Given the description of an element on the screen output the (x, y) to click on. 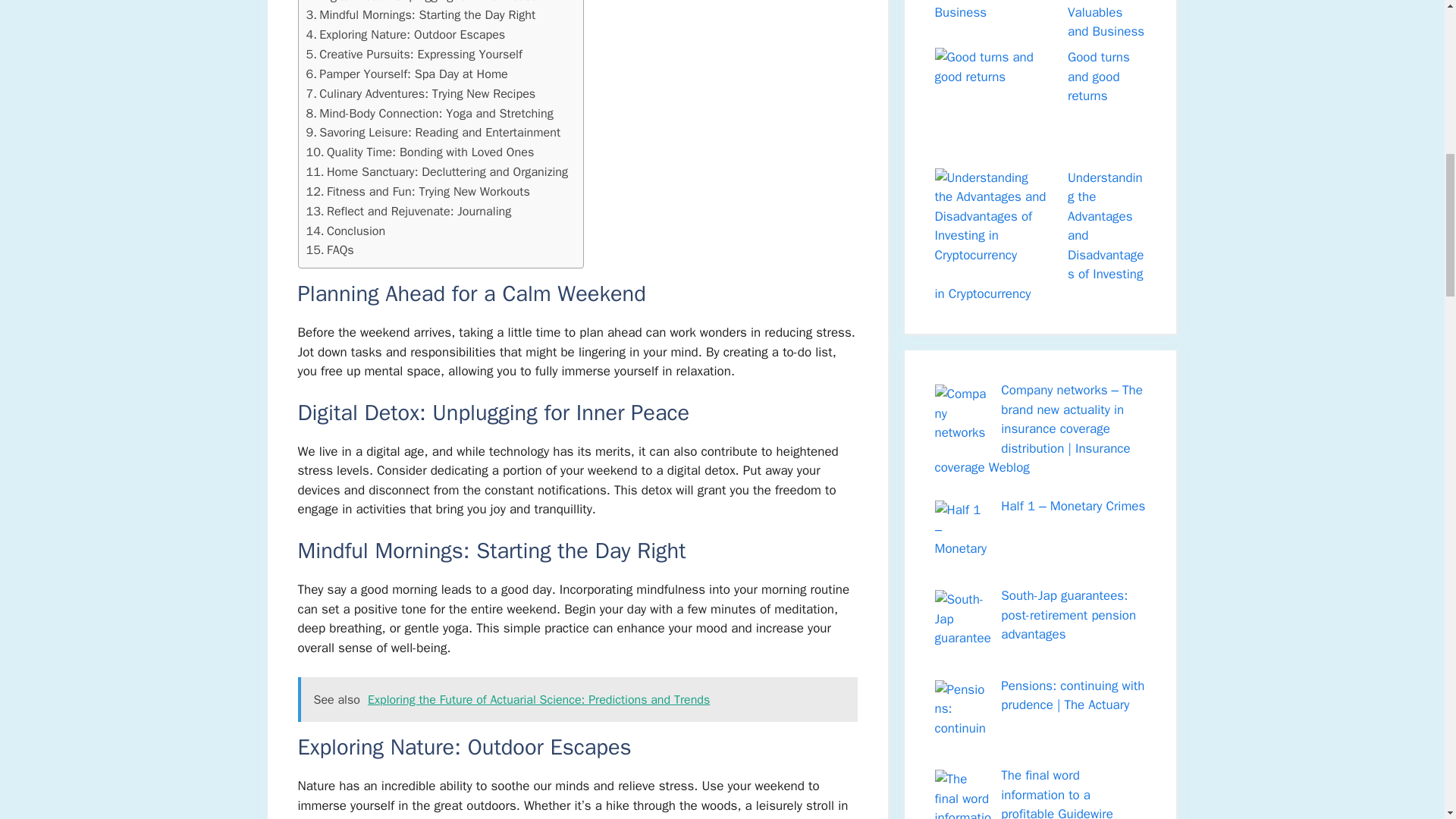
Savoring Leisure: Reading and Entertainment (432, 132)
Mindful Mornings: Starting the Day Right (420, 14)
Creative Pursuits: Expressing Yourself (413, 54)
Savoring Leisure: Reading and Entertainment (432, 132)
Culinary Adventures: Trying New Recipes (420, 94)
Pamper Yourself: Spa Day at Home (406, 74)
FAQs (329, 250)
Conclusion (345, 230)
Fitness and Fun: Trying New Workouts (417, 191)
